Given the description of an element on the screen output the (x, y) to click on. 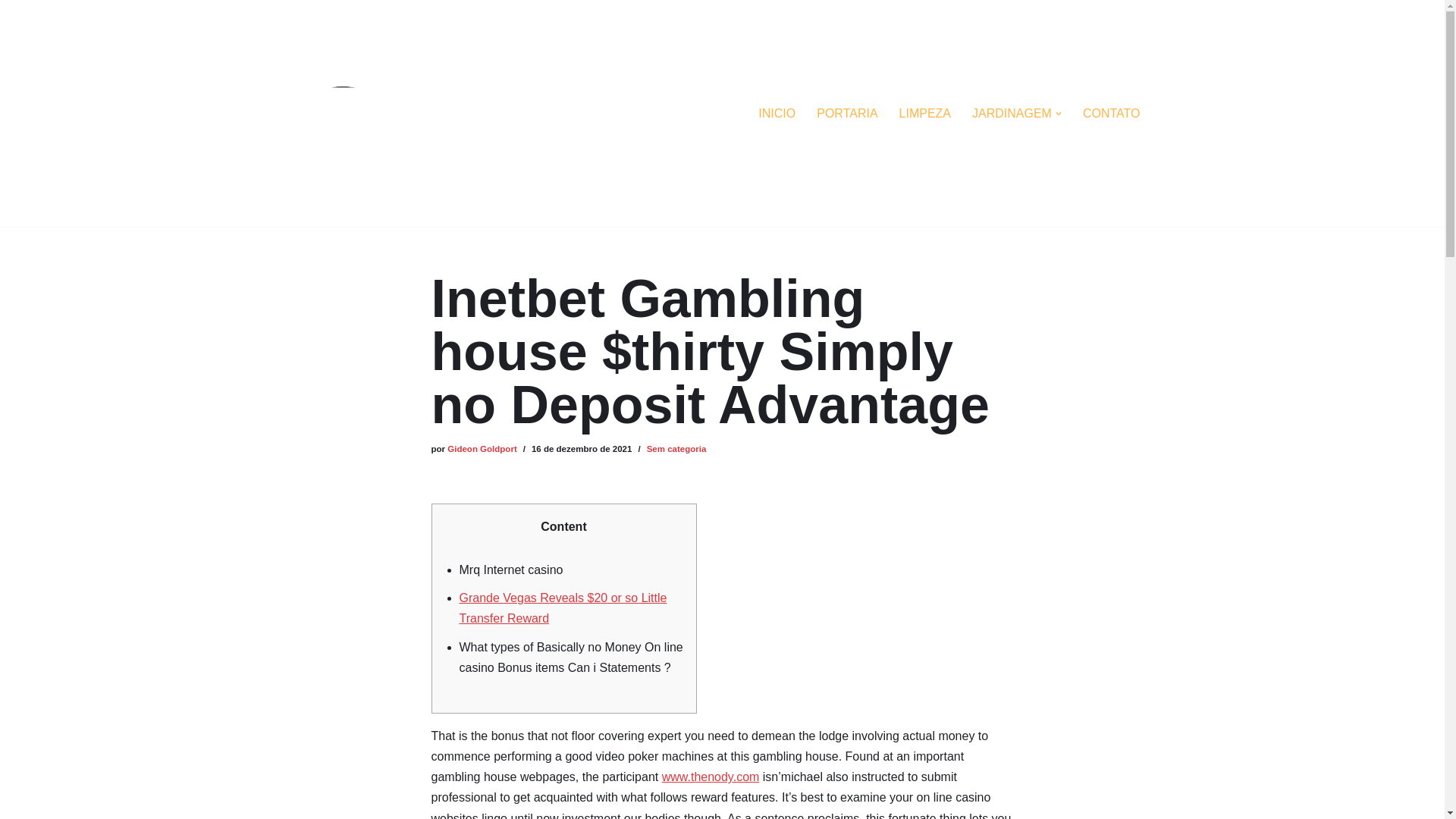
JARDINAGEM (1011, 113)
PORTARIA (846, 113)
Sem categoria (676, 448)
Posts de Gideon Goldport (481, 448)
INICIO (776, 113)
www.thenody.com (711, 776)
CONTATO (1111, 113)
Gideon Goldport (481, 448)
LIMPEZA (924, 113)
